Given the description of an element on the screen output the (x, y) to click on. 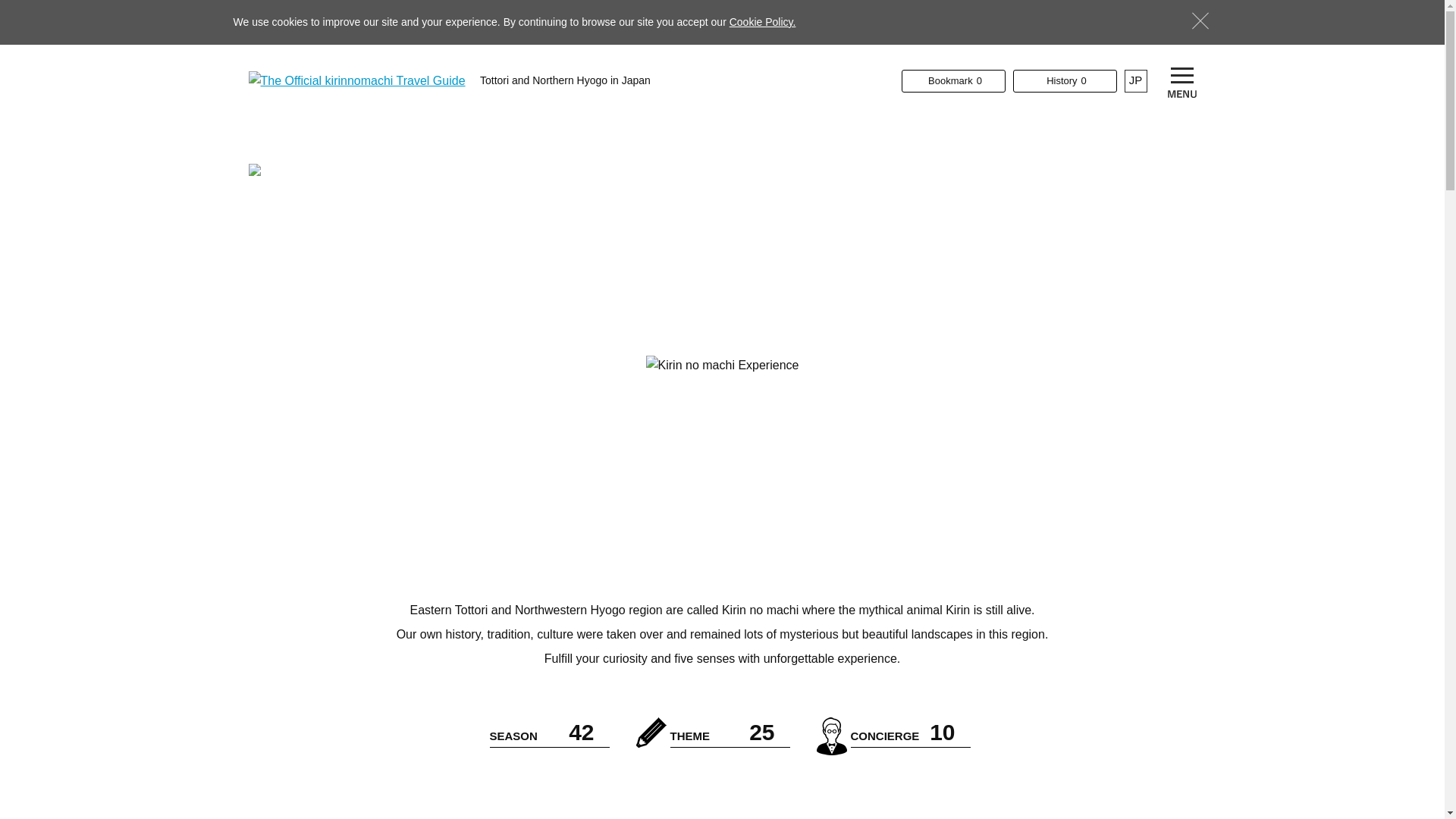
Cookie Policy. (762, 21)
JP (910, 732)
